Given the description of an element on the screen output the (x, y) to click on. 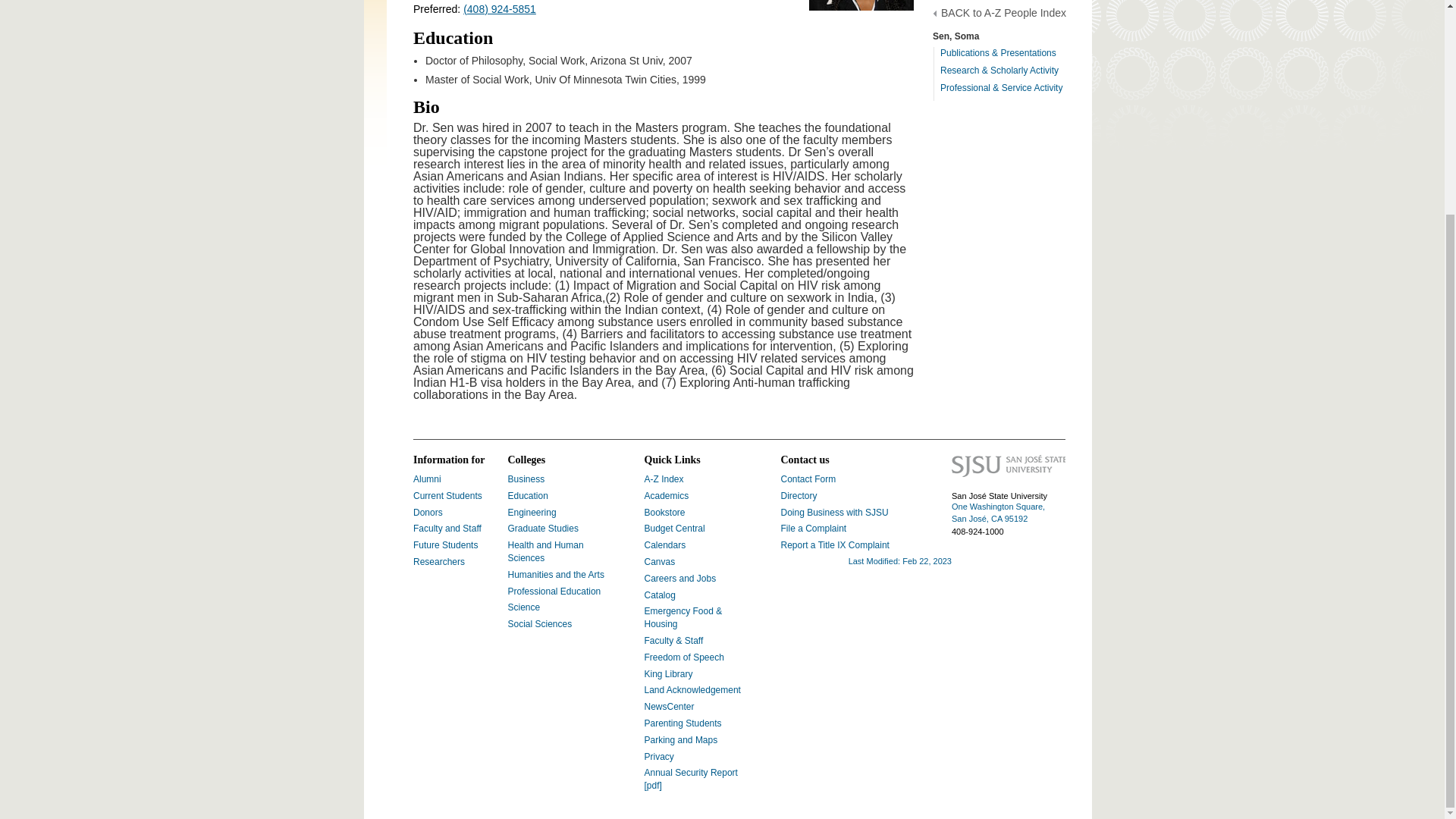
Business (526, 479)
Education (528, 495)
Health and Human Sciences (545, 551)
Engineering (532, 511)
Alumni (427, 479)
Humanities and the Arts (556, 574)
Social Sciences (540, 624)
A-Z Index (664, 479)
Current Students (447, 495)
Researchers (438, 561)
Faculty and Staff (447, 528)
Academics (666, 495)
Donors (427, 511)
Graduate Studies (543, 528)
Future Students (445, 544)
